Given the description of an element on the screen output the (x, y) to click on. 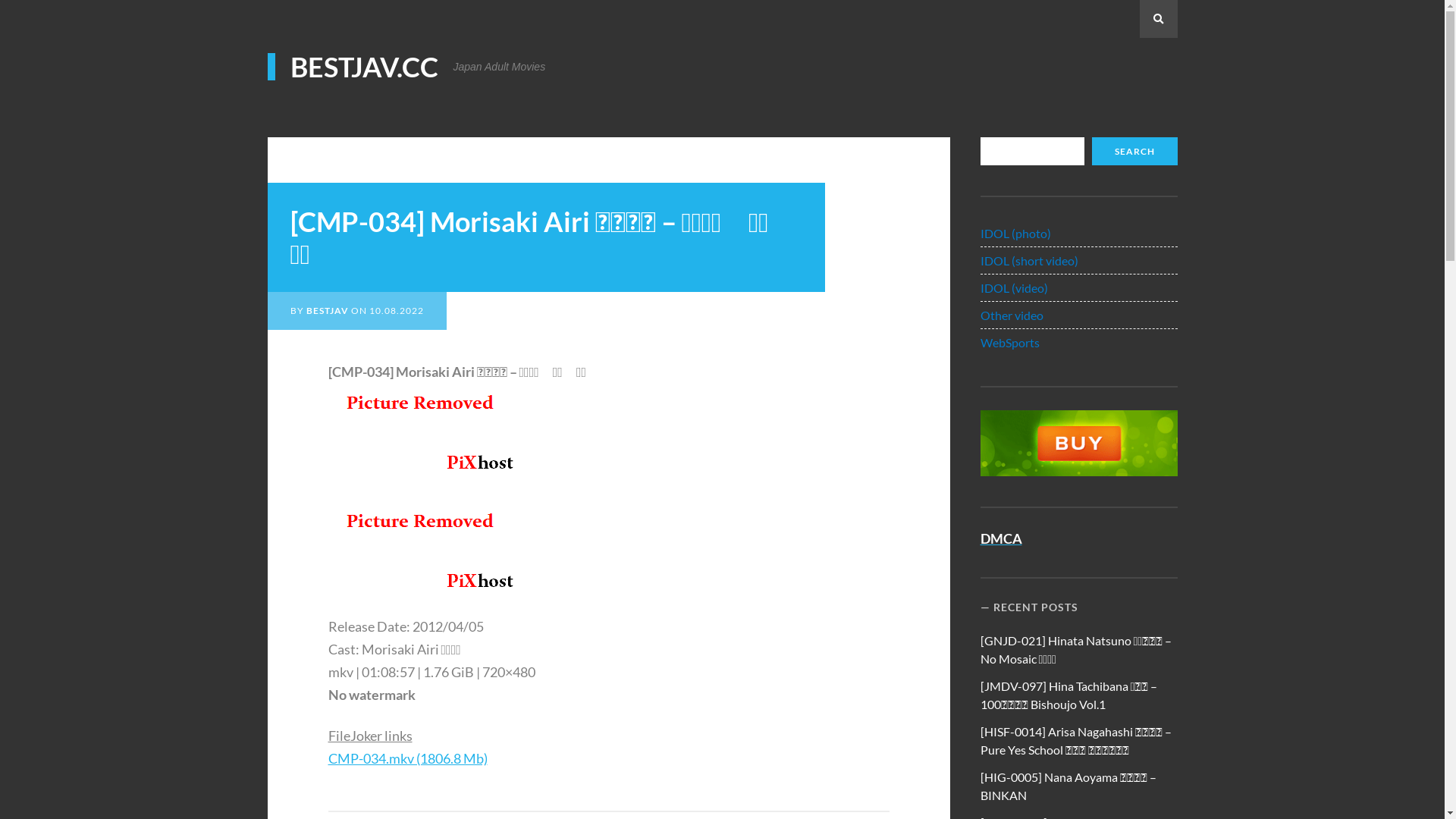
IDOL (short video) Element type: text (1029, 260)
WebSports Element type: text (1009, 342)
CMP-034.mkv (1806.8 Mb) Element type: text (406, 757)
Search Element type: text (1157, 18)
BESTJAV.CC Element type: text (351, 66)
IDOL (photo) Element type: text (1015, 232)
SEARCH Element type: text (1134, 151)
DMCA Element type: text (1001, 538)
IDOL (video) Element type: text (1014, 287)
BESTJAV Element type: text (327, 310)
Other video Element type: text (1011, 314)
